Given the description of an element on the screen output the (x, y) to click on. 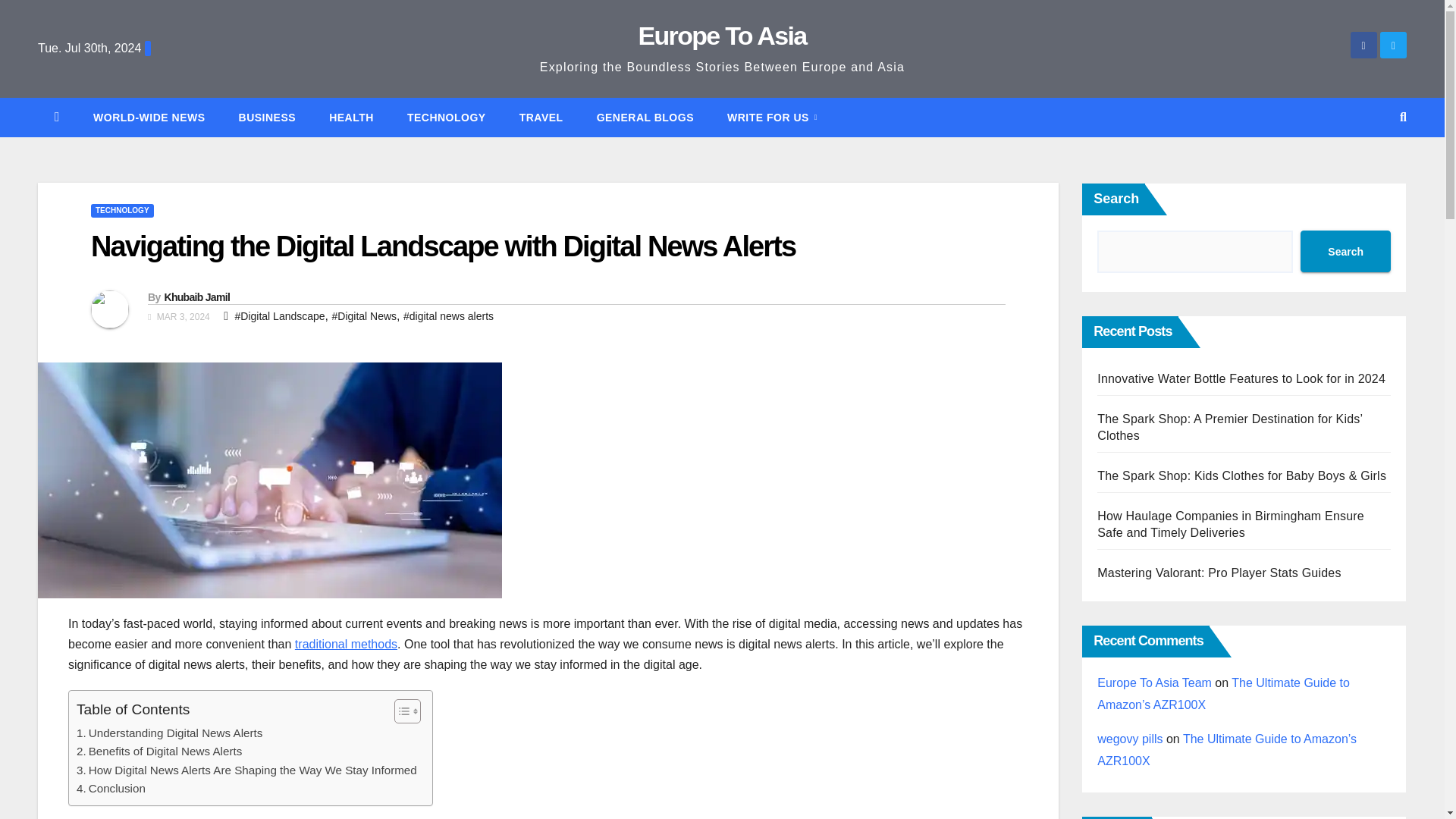
Conclusion (111, 788)
How Digital News Alerts Are Shaping the Way We Stay Informed (246, 770)
Benefits of Digital News Alerts (159, 751)
Travel (540, 117)
Write For US (772, 117)
traditional methods (346, 644)
WRITE FOR US (772, 117)
WORLD-WIDE NEWS (149, 117)
Benefits of Digital News Alerts (159, 751)
Health (351, 117)
TECHNOLOGY (122, 210)
TECHNOLOGY (446, 117)
Europe To Asia (722, 35)
Understanding Digital News Alerts (169, 732)
How Digital News Alerts Are Shaping the Way We Stay Informed (246, 770)
